Given the description of an element on the screen output the (x, y) to click on. 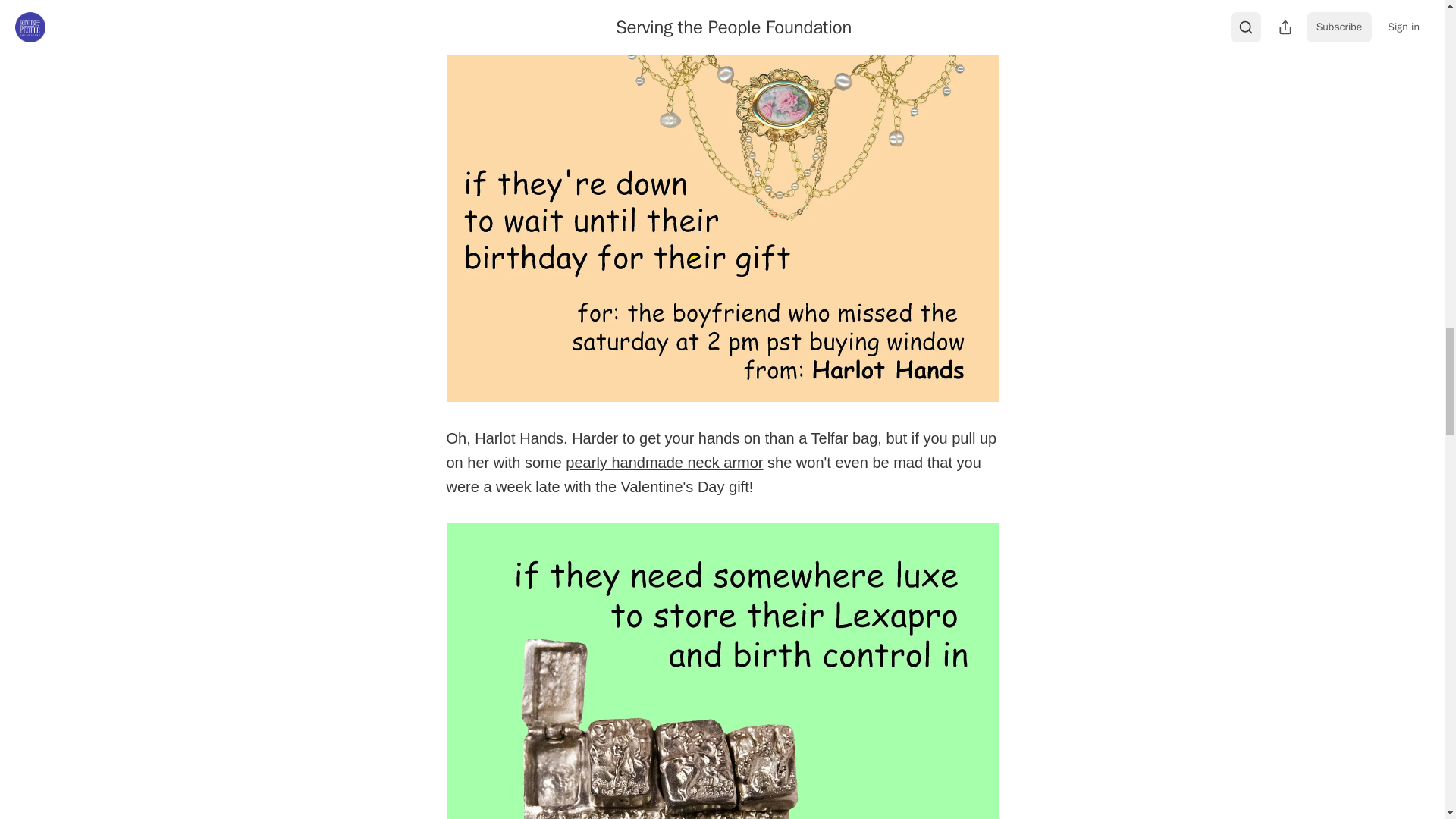
pearly handmade neck armor (664, 462)
